Given the description of an element on the screen output the (x, y) to click on. 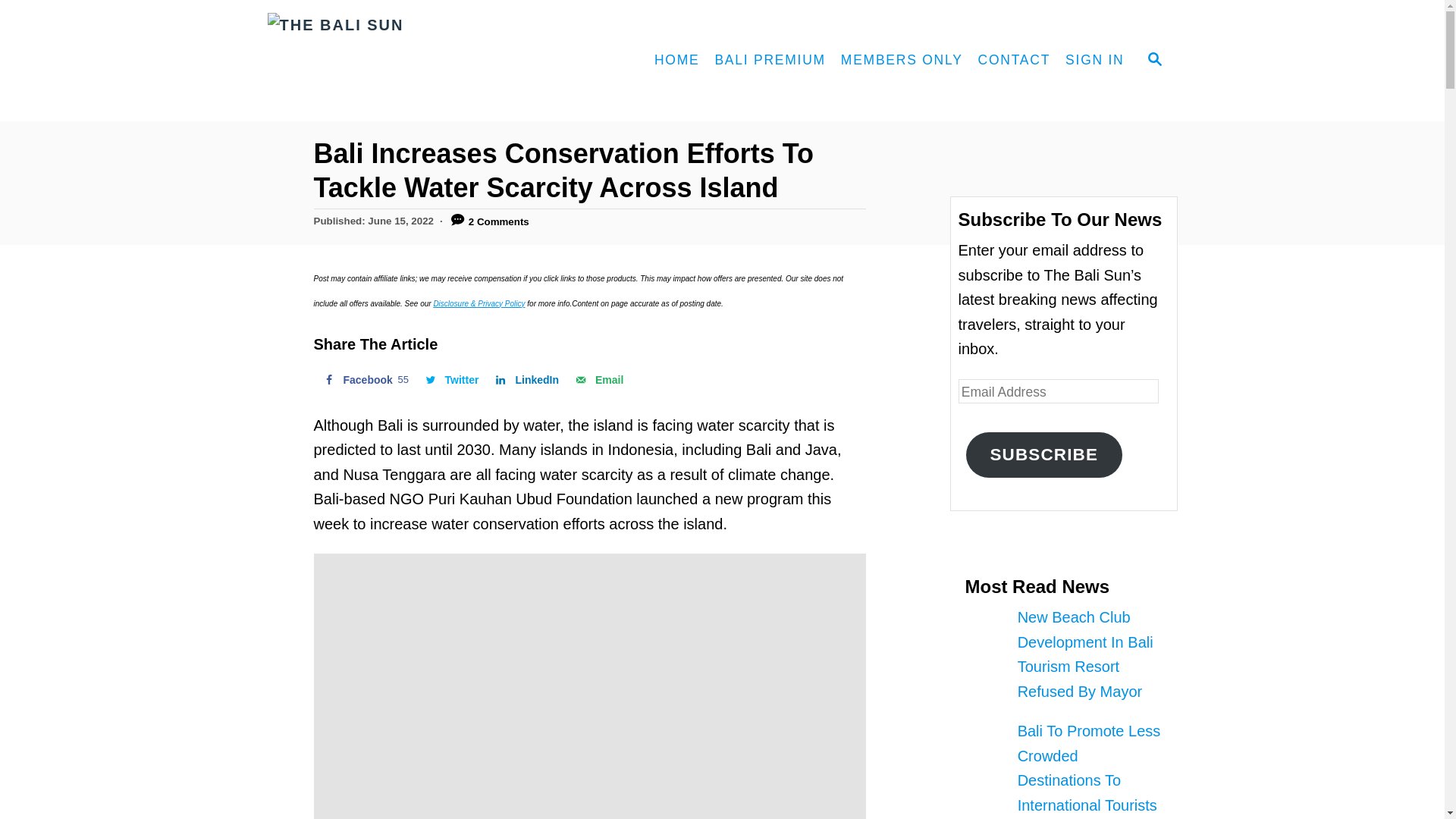
CONTACT (1014, 60)
Share on LinkedIn (525, 379)
Share on Facebook (364, 379)
Email (598, 379)
SEARCH (1153, 60)
LinkedIn (364, 379)
Twitter (525, 379)
SUBSCRIBE (450, 379)
MEMBERS ONLY (1044, 454)
Share on Twitter (901, 60)
The Bali Sun (450, 379)
SIGN IN (403, 60)
